Given the description of an element on the screen output the (x, y) to click on. 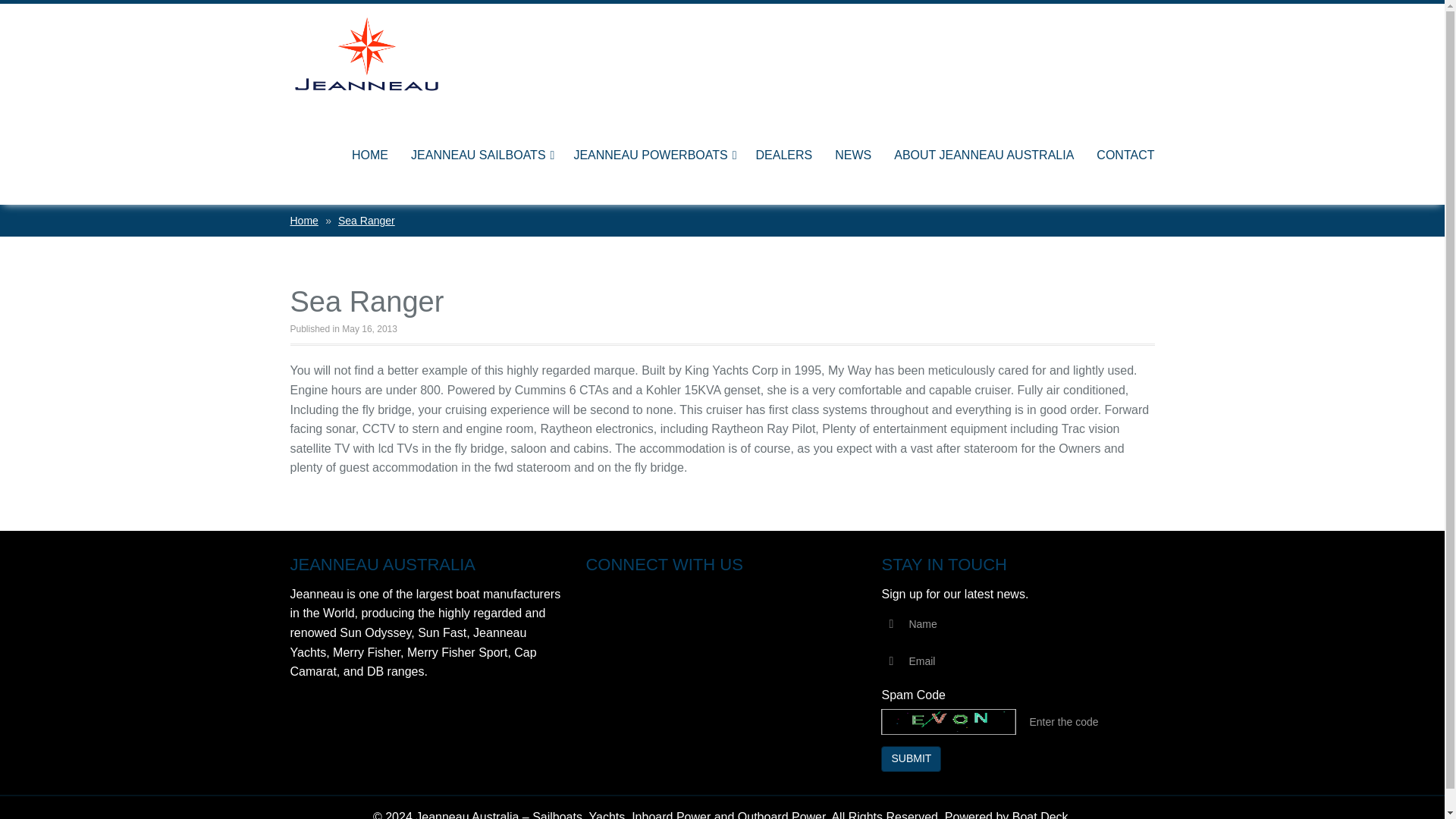
SUBMIT (910, 759)
JEANNEAU POWERBOATS (645, 155)
JEANNEAU SAILBOATS (473, 155)
ABOUT JEANNEAU AUSTRALIA (983, 155)
Sea Ranger (365, 220)
Home (303, 220)
Boat Deck (1039, 814)
